Given the description of an element on the screen output the (x, y) to click on. 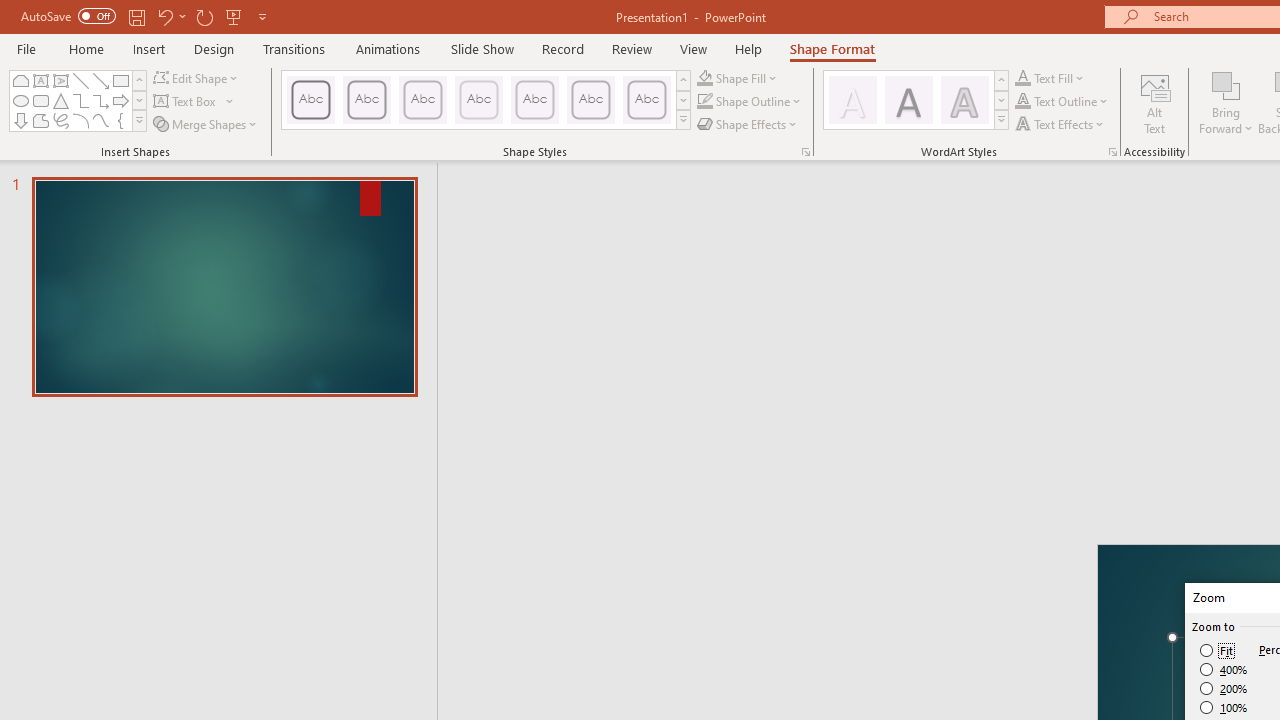
Fill: White, Text color 1; Shadow (852, 100)
AutomationID: ShapeStylesGallery (486, 99)
Colored Outline - Blue-Gray, Accent 5 (591, 100)
Text Outline (1062, 101)
Edit Shape (196, 78)
Fit (1217, 650)
Draw Horizontal Text Box (185, 101)
Colored Outline - Dark Red, Accent 1 (367, 100)
Format Text Effects... (1112, 151)
